Given the description of an element on the screen output the (x, y) to click on. 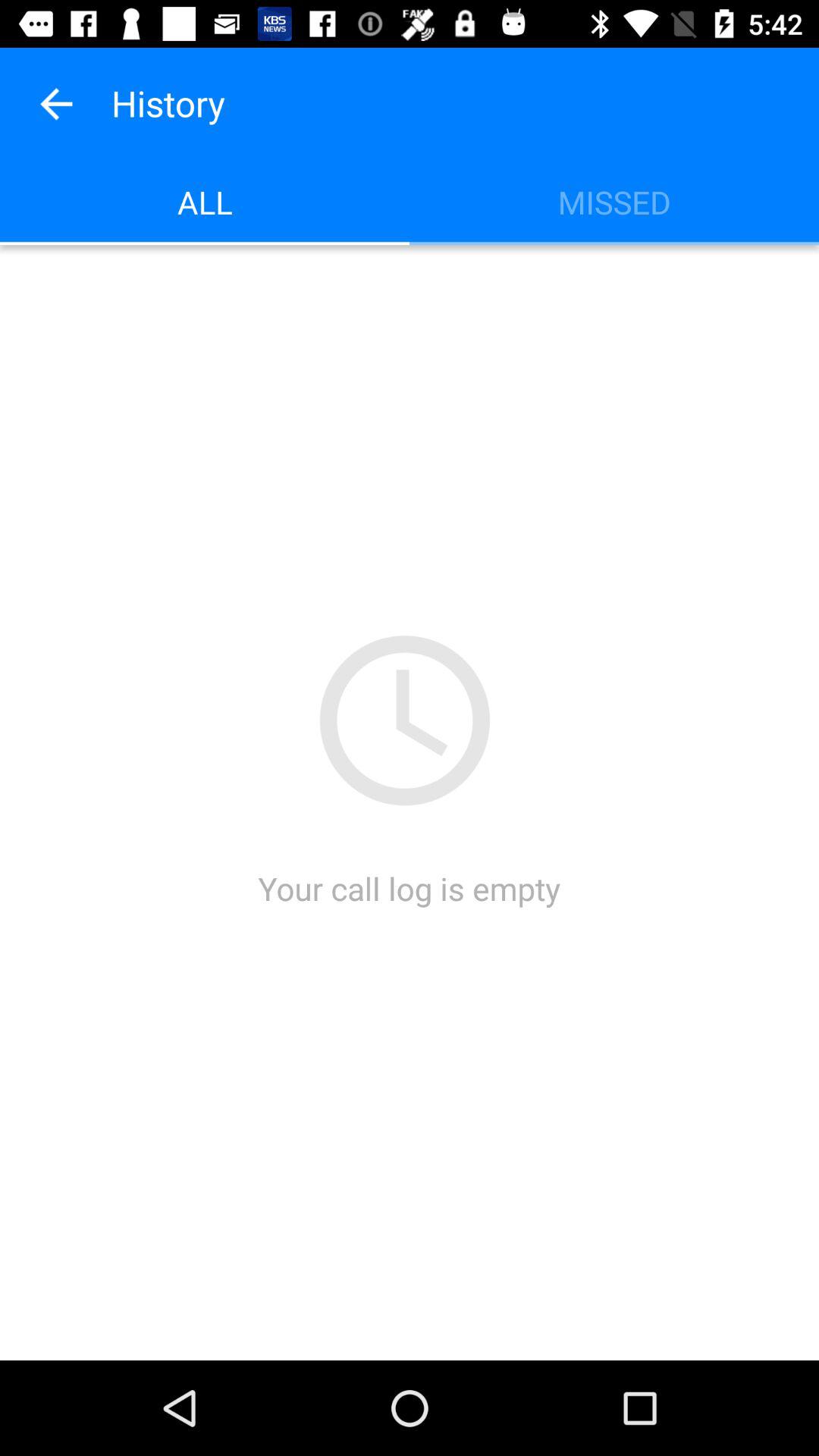
launch item next to missed (204, 202)
